Given the description of an element on the screen output the (x, y) to click on. 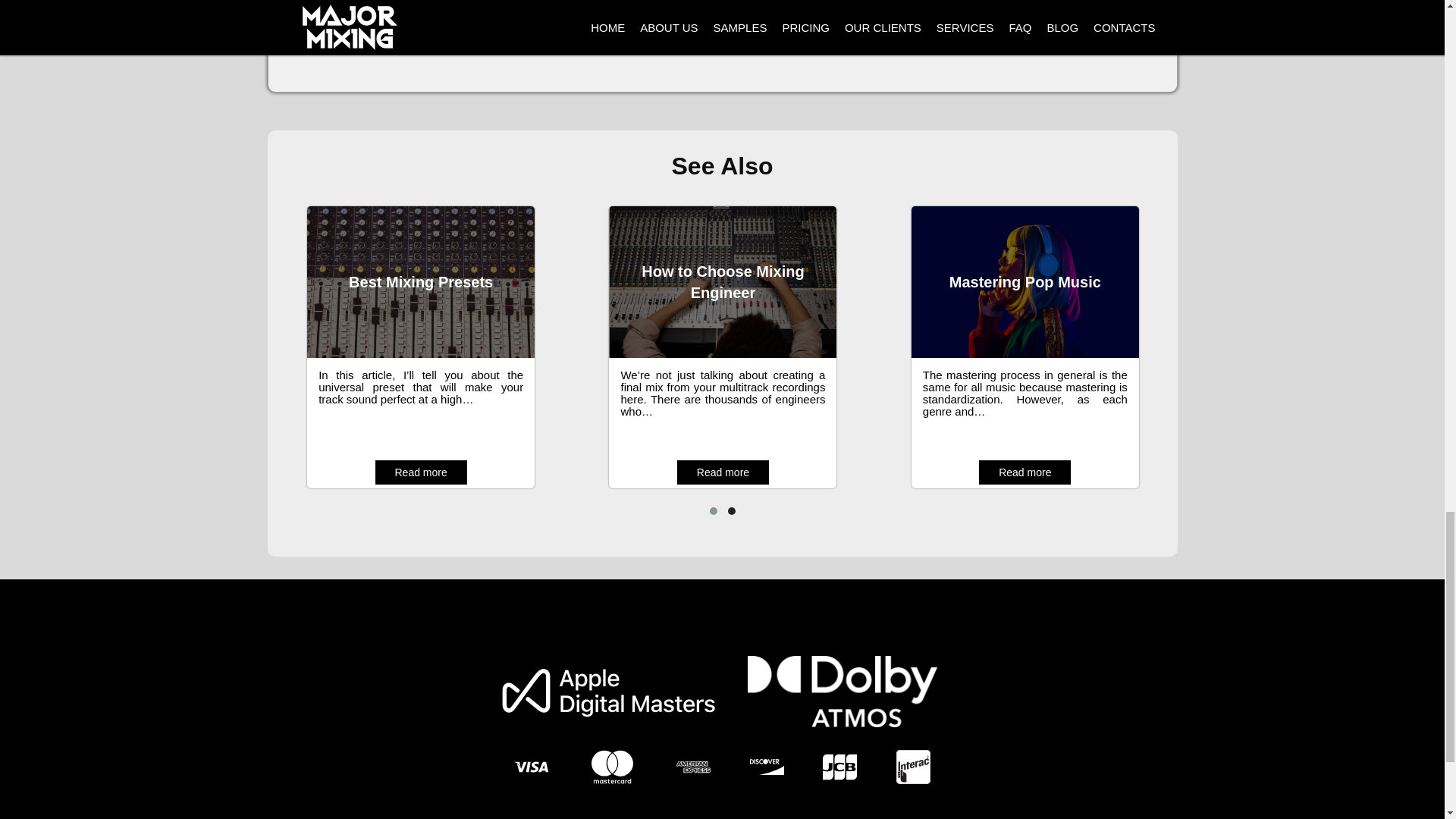
Mastering Pop Music (1024, 281)
Share twitter (512, 17)
Read more (1024, 472)
Share facebook (387, 17)
Share viber (643, 17)
Read more (419, 472)
Share telegram (598, 17)
Best Mixing Presets (420, 281)
How to Choose Mixing Engineer (723, 281)
Read more (722, 472)
